Given the description of an element on the screen output the (x, y) to click on. 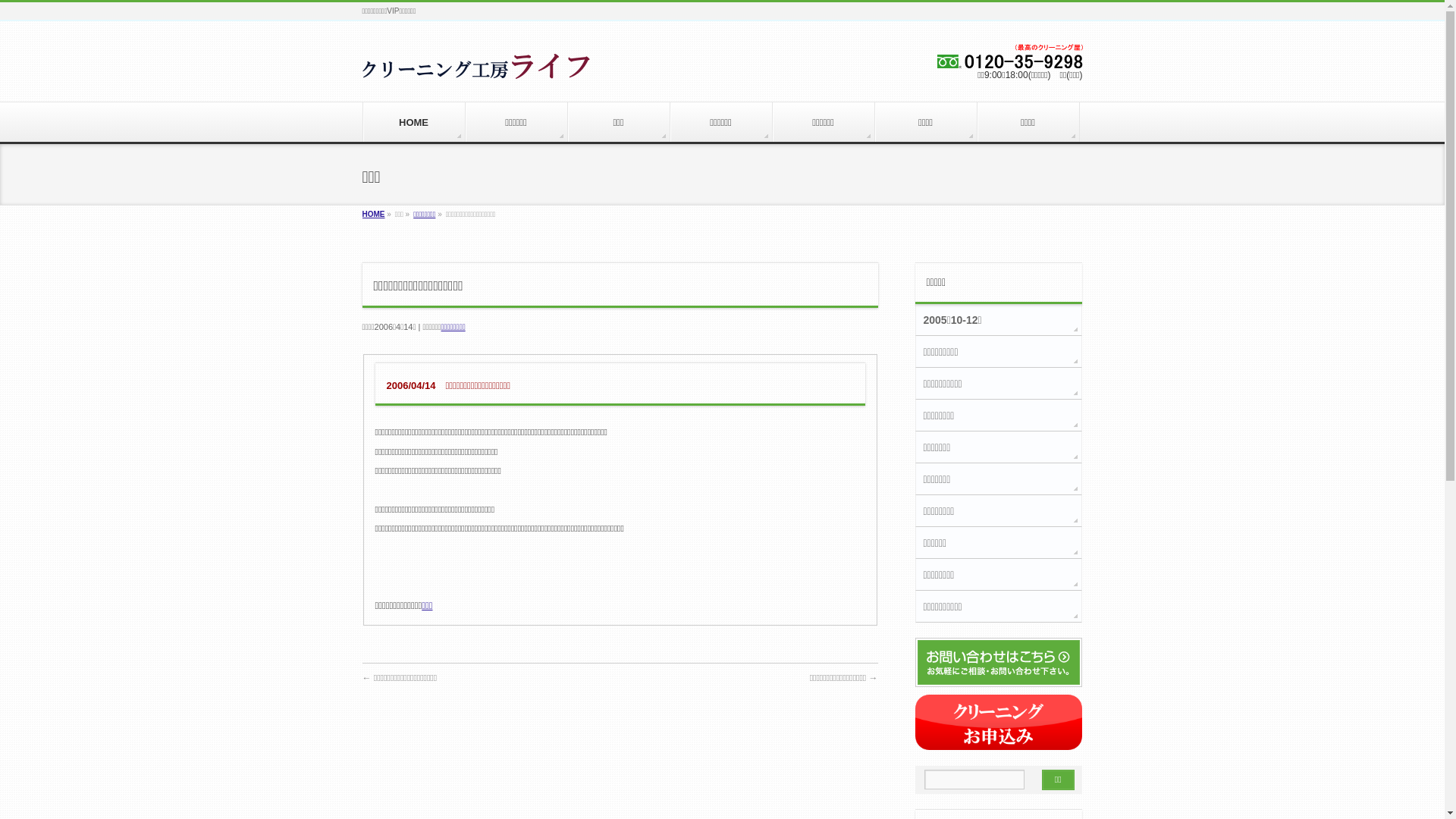
HOME Element type: text (373, 214)
HOME Element type: text (413, 121)
